Given the description of an element on the screen output the (x, y) to click on. 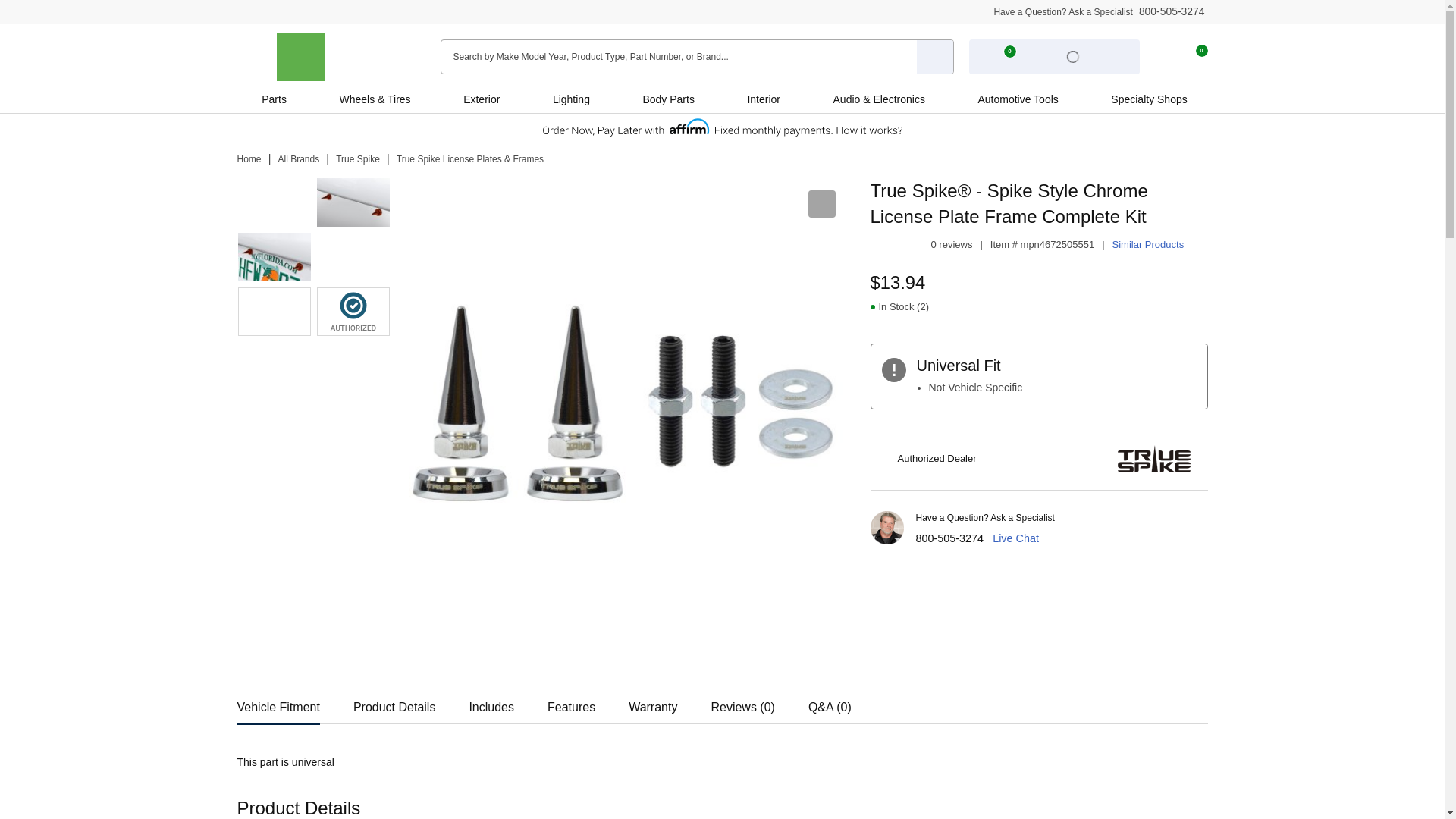
Vehicle Fitment (276, 702)
Warranty (652, 702)
Lighting (570, 99)
Product Details (394, 702)
Exterior (480, 99)
Body Parts (667, 99)
Wheels (356, 99)
800-505-3274 (949, 538)
800-505-3274 (1171, 11)
Warranty (652, 702)
